Given the description of an element on the screen output the (x, y) to click on. 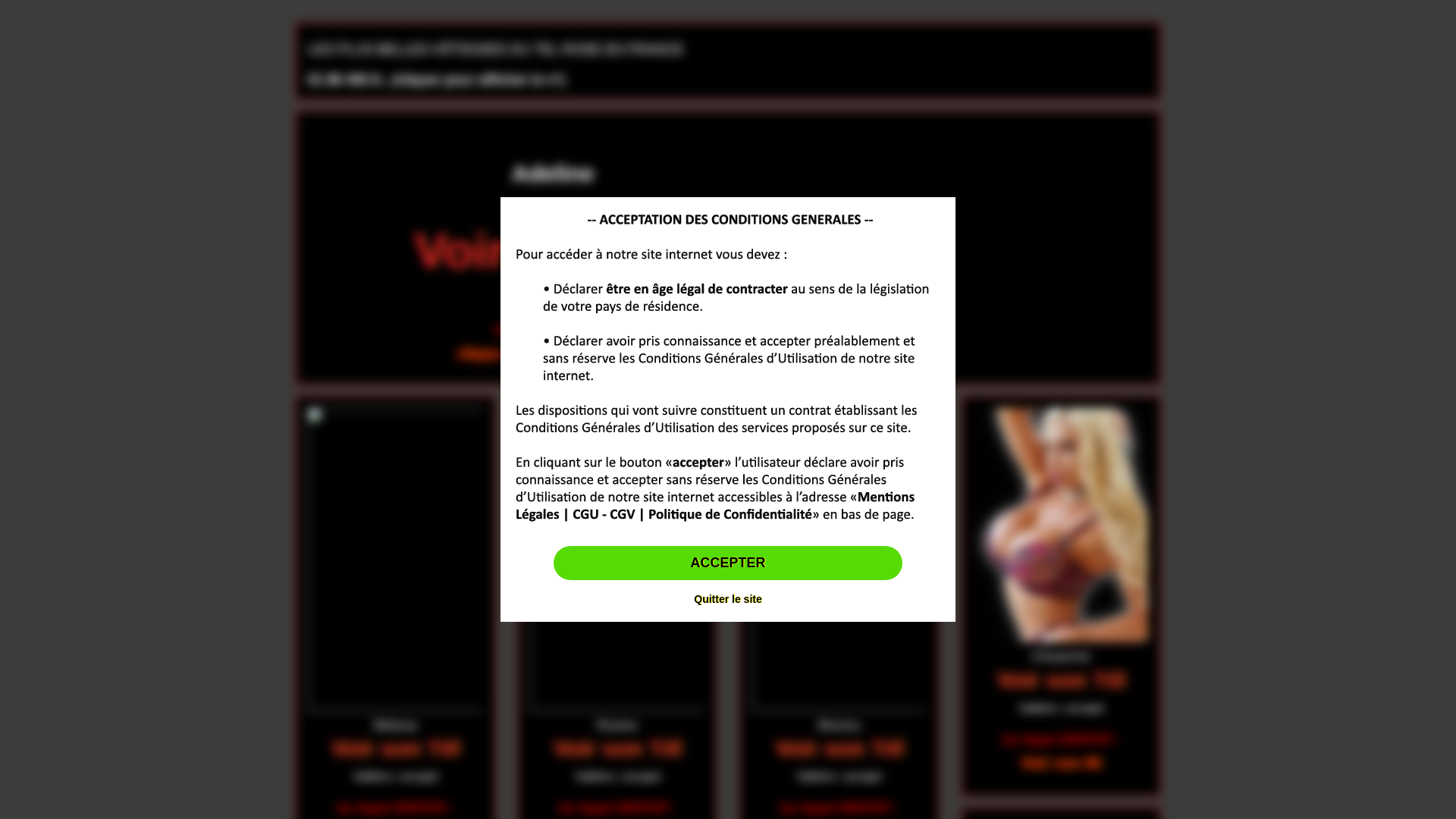
Voir son 06 Element type: text (1060, 764)
clique pour afficher son 06 Element type: text (552, 354)
ACCEPTER Element type: text (727, 563)
Quitter le site Element type: text (727, 599)
